Given the description of an element on the screen output the (x, y) to click on. 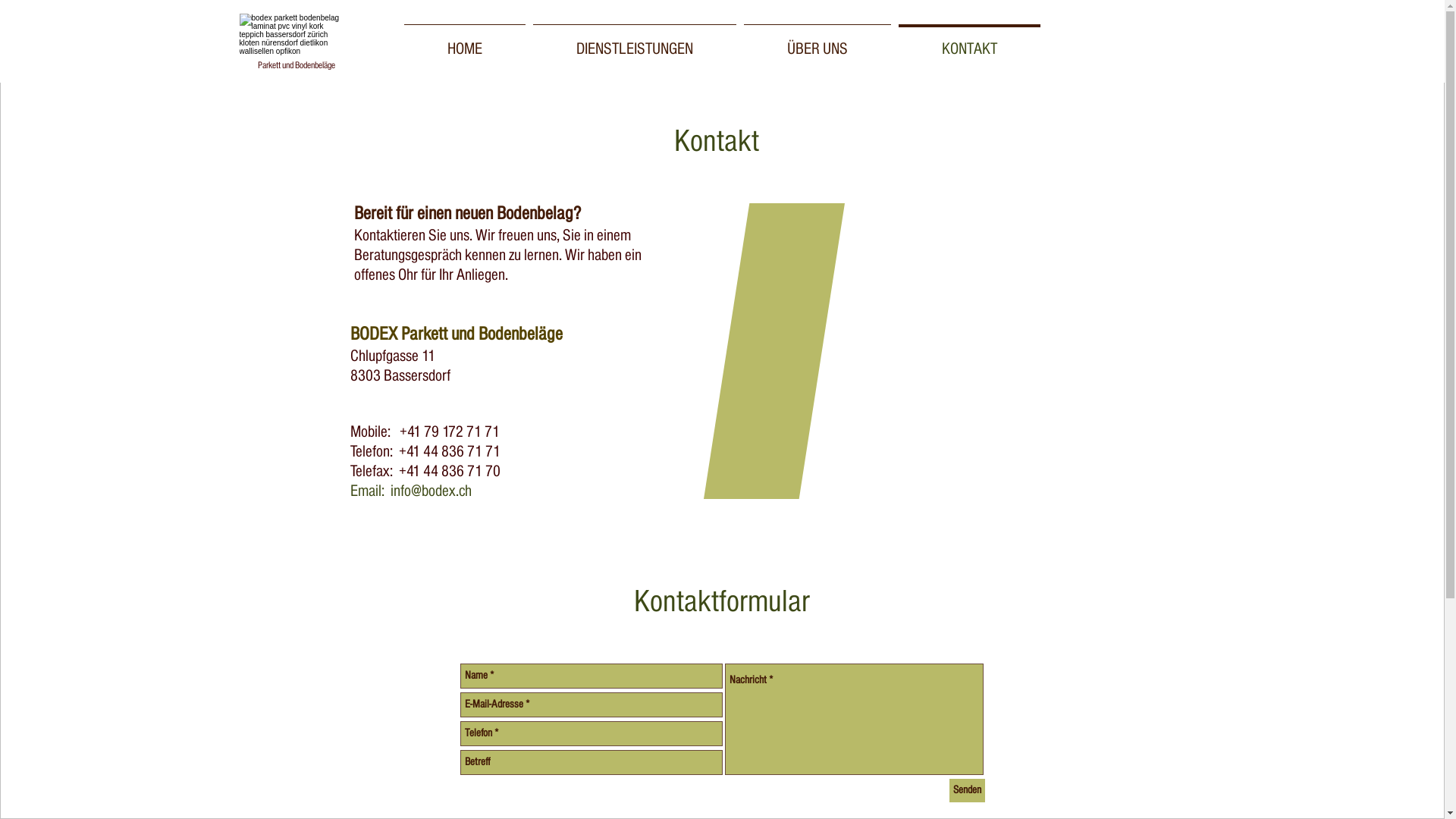
info@bodex.ch Element type: text (429, 491)
HOME Element type: text (464, 42)
Senden Element type: text (967, 790)
KONTAKT Element type: text (969, 42)
DIENSTLEISTUNGEN Element type: text (634, 42)
